Given the description of an element on the screen output the (x, y) to click on. 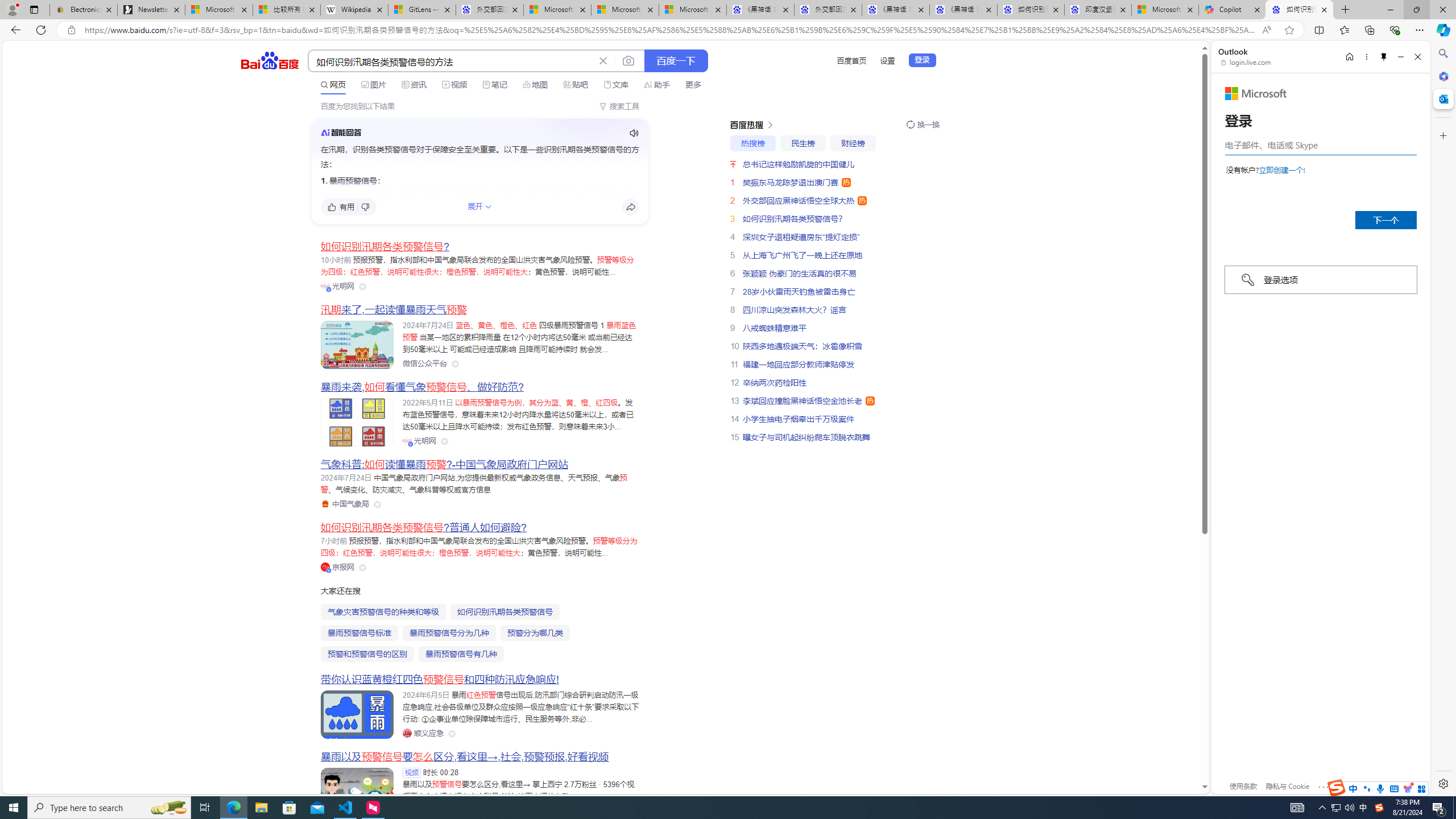
Class: img-light_7jMUg (340, 131)
